Given the description of an element on the screen output the (x, y) to click on. 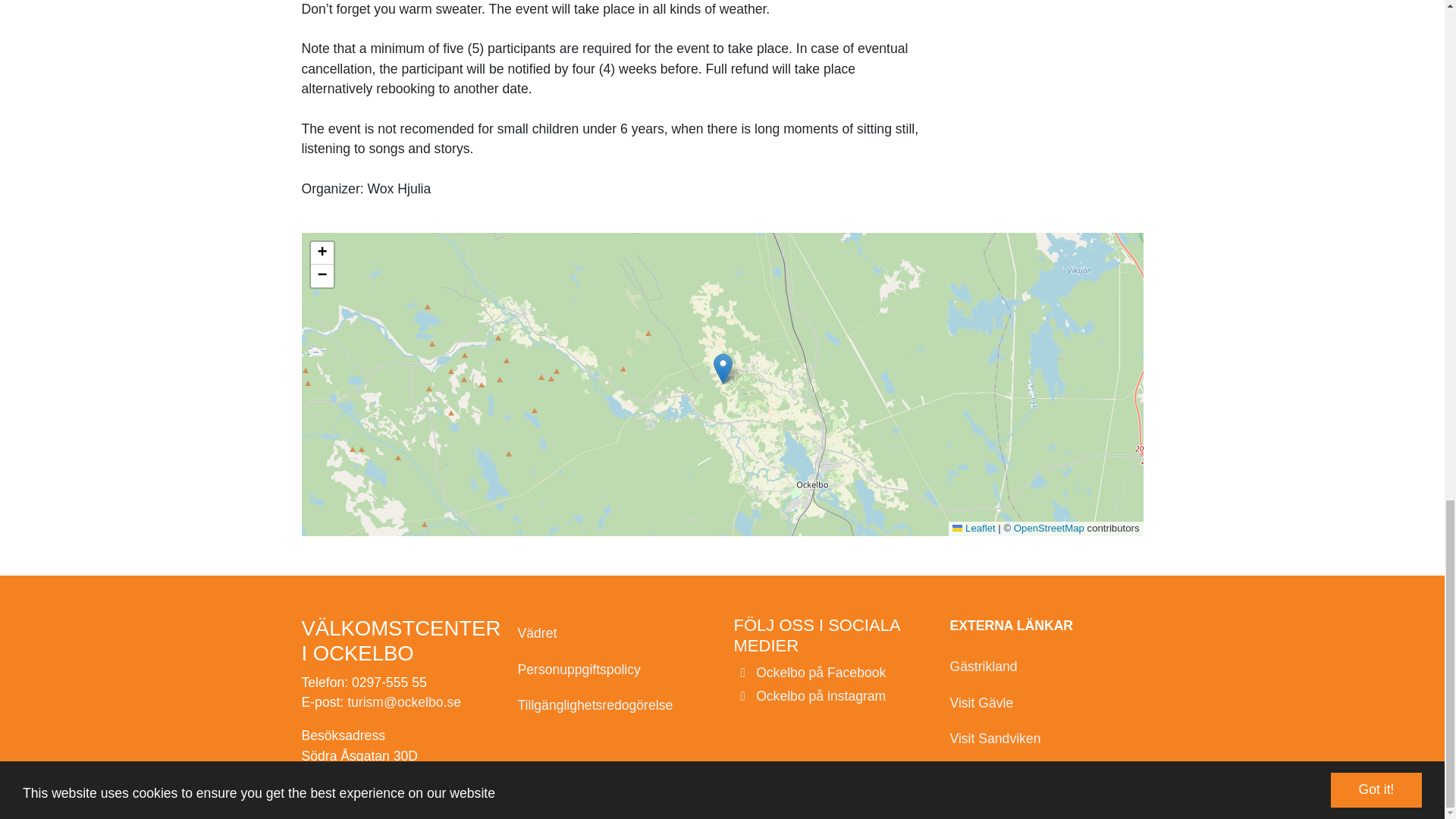
A JavaScript library for interactive maps (973, 527)
OpenStreetMap (1048, 527)
Visit Sandviken (1045, 738)
Zoom out (322, 275)
Visit Hofors (1045, 774)
Zoom in (322, 252)
Personuppgiftspolicy (613, 669)
Leaflet (973, 527)
